Given the description of an element on the screen output the (x, y) to click on. 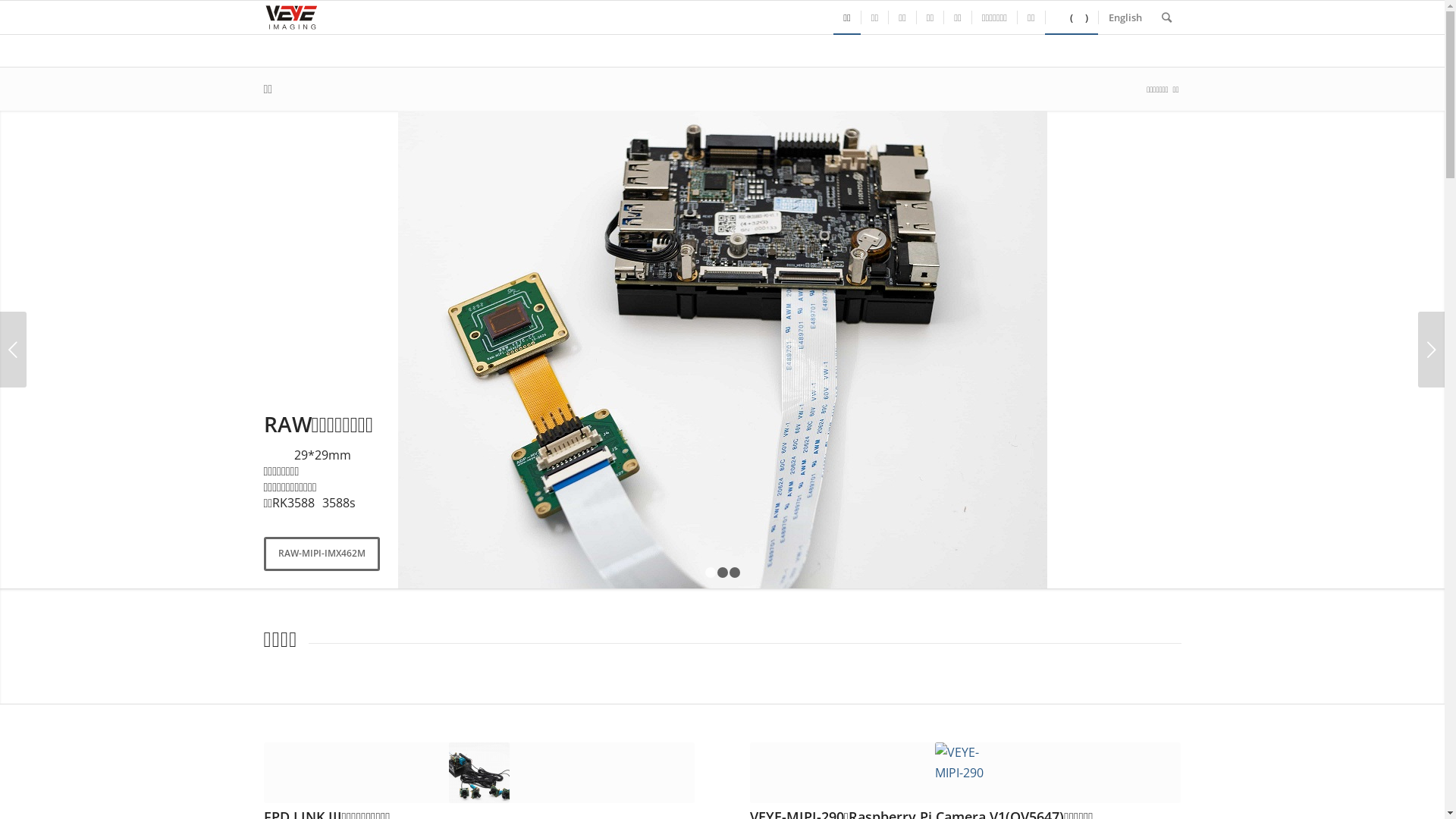
RAW-MIPI-IMX462-ADP-MV2-FIREFLY 01 Element type: hover (721, 349)
RAW-MIPI-IMX462M Element type: text (321, 553)
2 Element type: text (722, 572)
3 Element type: text (734, 572)
1 Element type: text (710, 572)
English Element type: text (1124, 17)
